Given the description of an element on the screen output the (x, y) to click on. 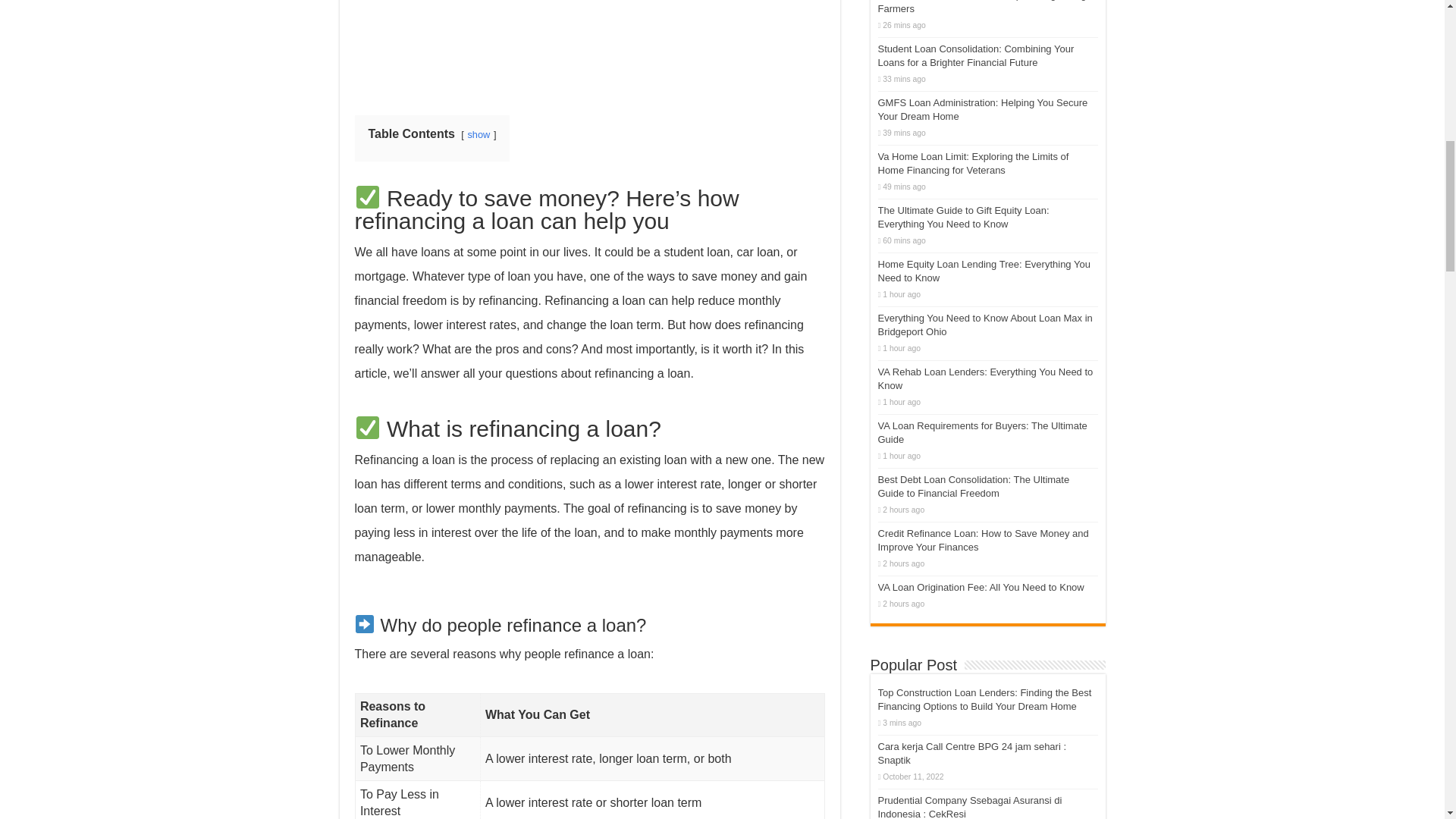
Advertisement (590, 45)
Youth Business Loan Farm: Empowering Young Farmers (981, 7)
show (478, 134)
